Given the description of an element on the screen output the (x, y) to click on. 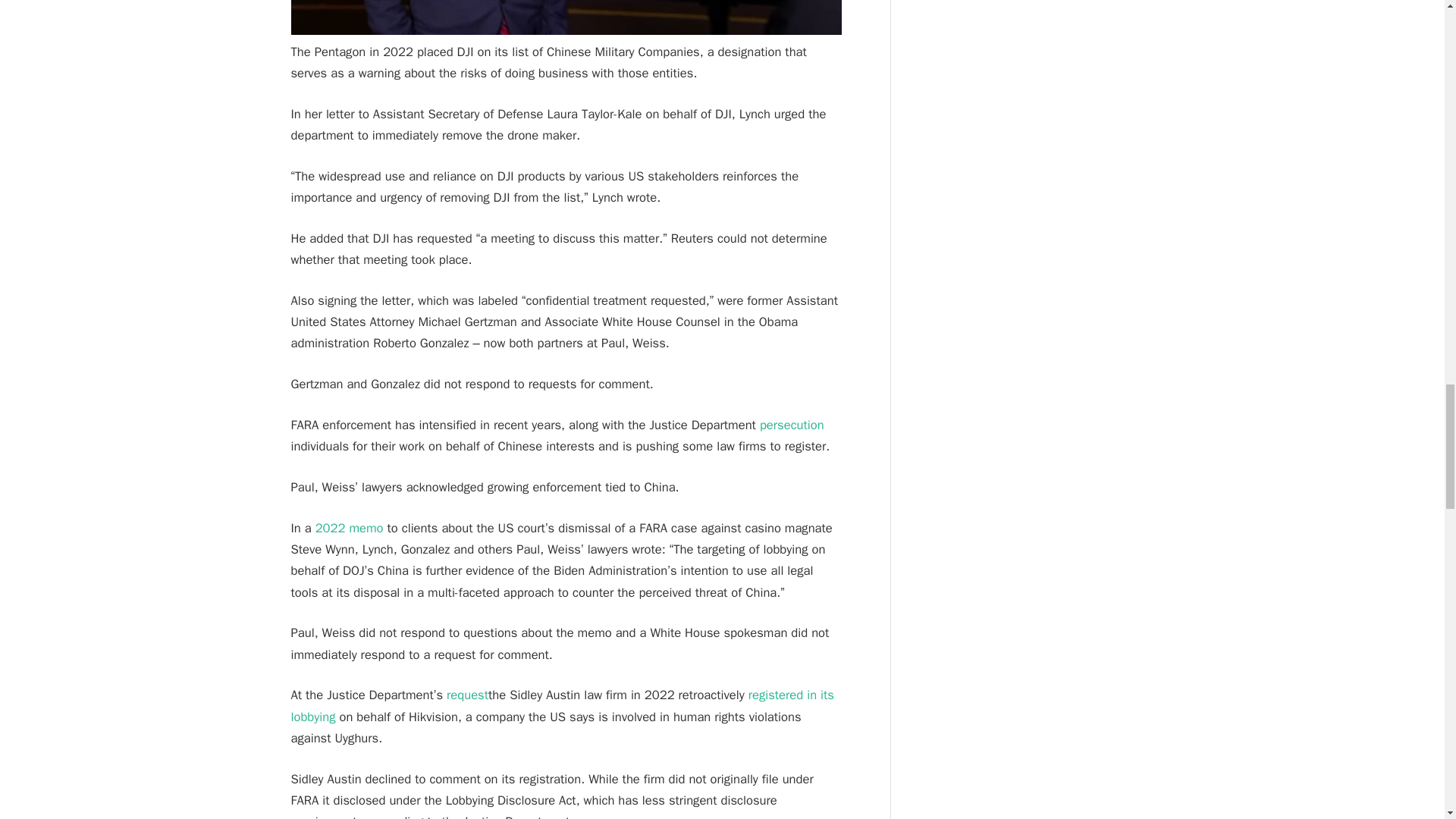
persecution (792, 424)
